Given the description of an element on the screen output the (x, y) to click on. 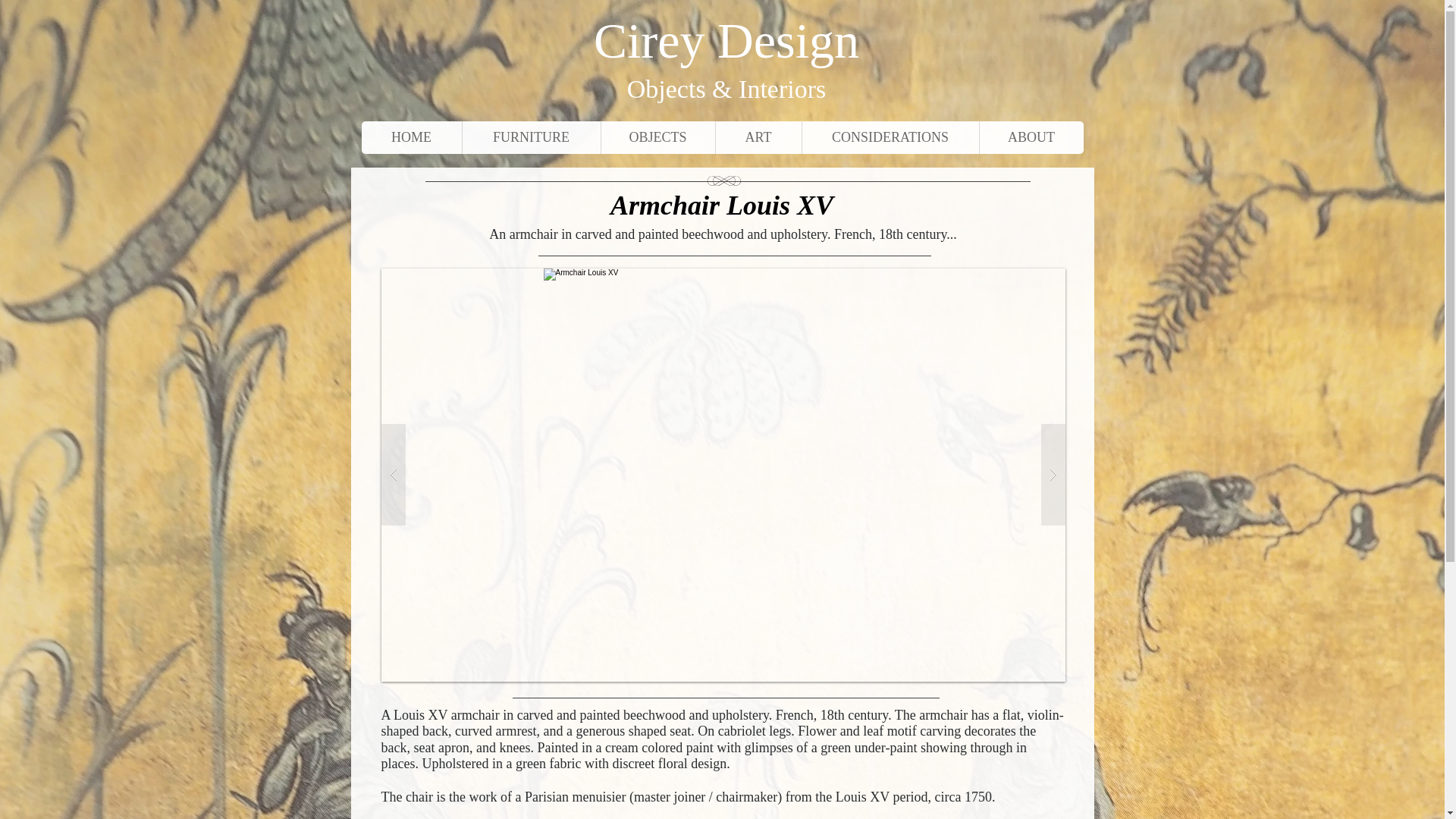
OBJECTS (656, 137)
FURNITURE (530, 137)
HOME (411, 137)
CONSIDERATIONS (889, 137)
ABOUT (1030, 137)
ART (757, 137)
